Given the description of an element on the screen output the (x, y) to click on. 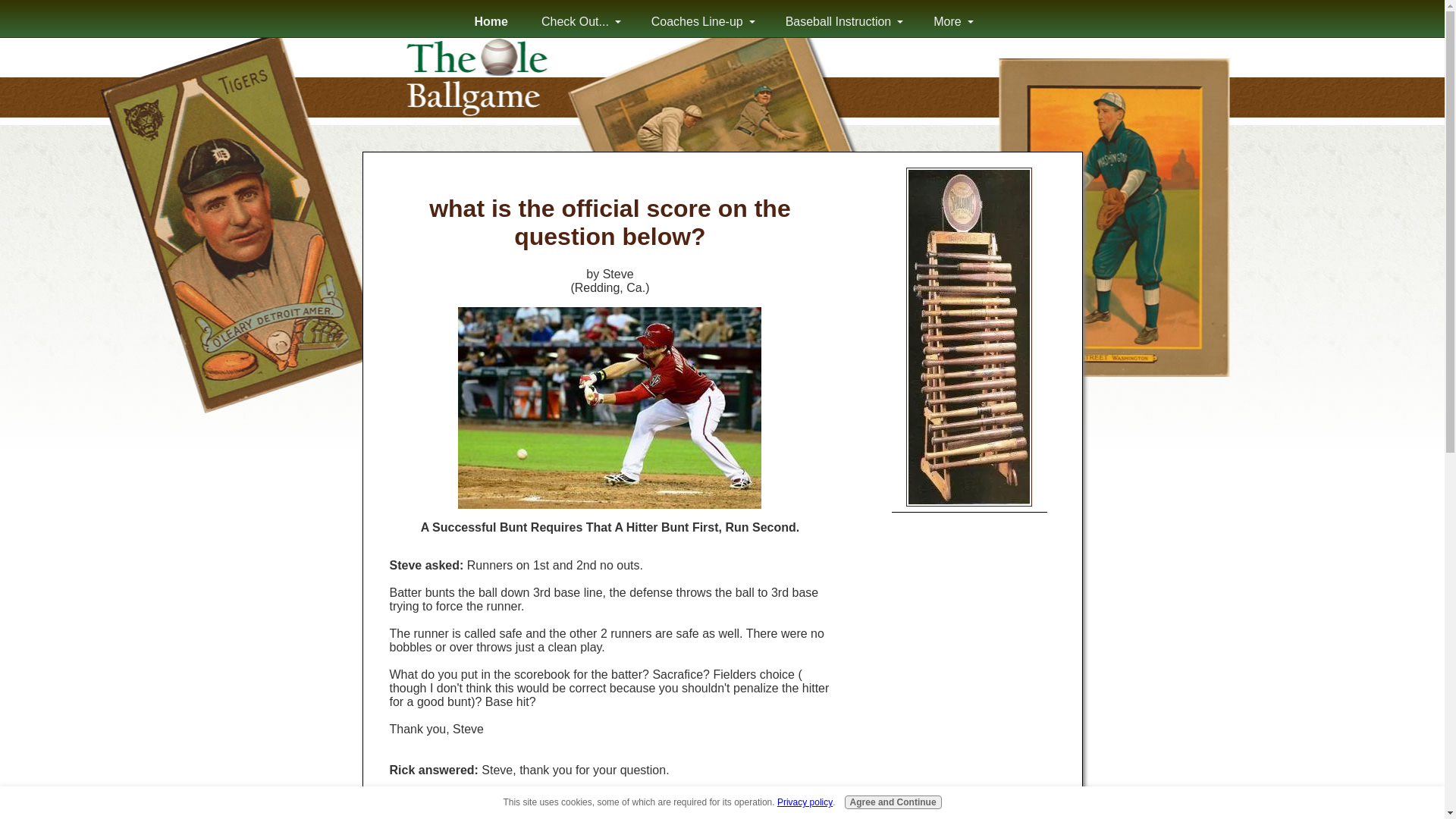
Home (491, 21)
